Given the description of an element on the screen output the (x, y) to click on. 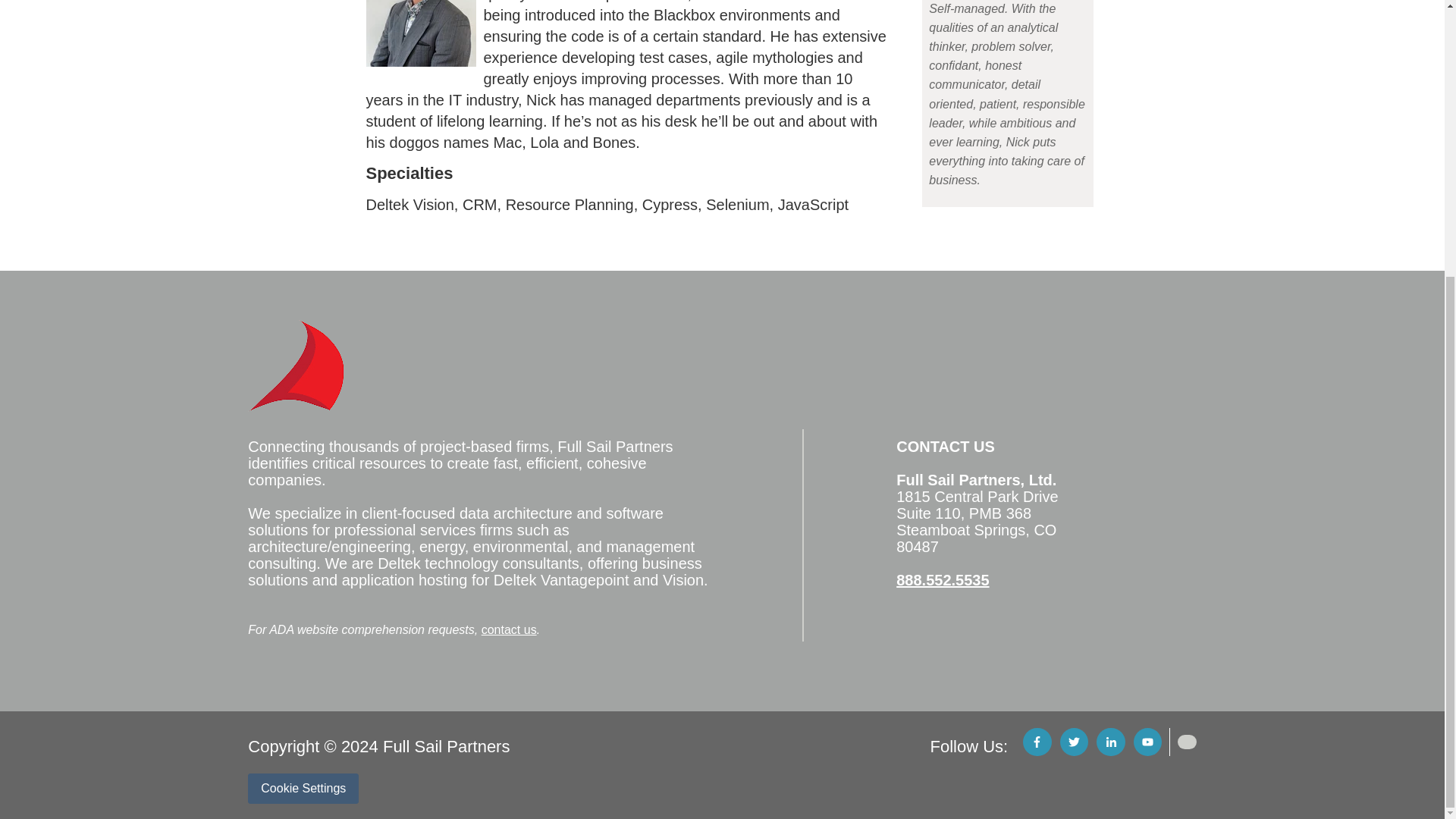
Footer-Logo (295, 365)
Go to top (1186, 741)
contact us (509, 629)
Nicholas Genade (420, 33)
